Given the description of an element on the screen output the (x, y) to click on. 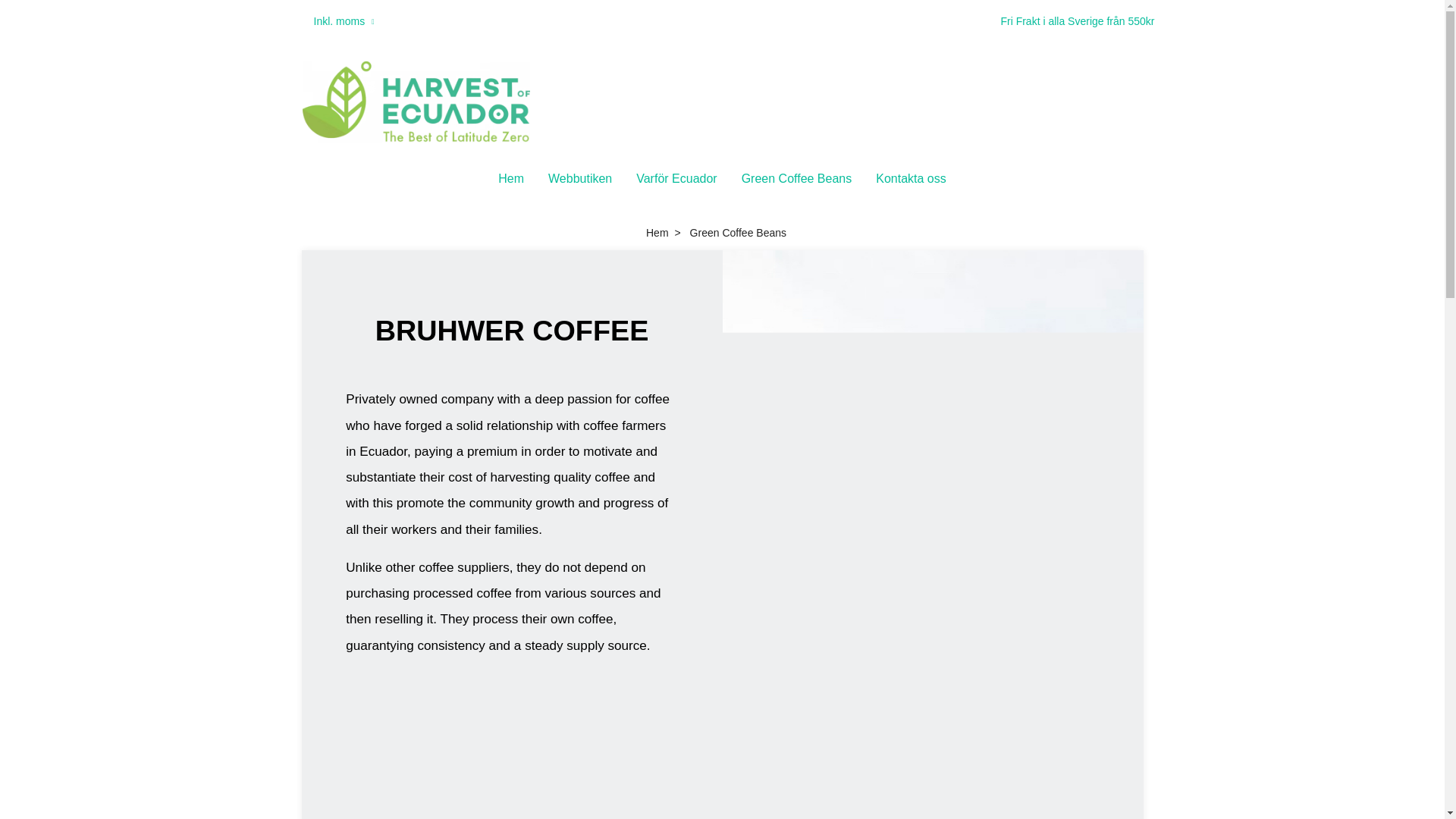
Hem (510, 178)
Green Coffee Beans (796, 178)
Webbutiken (579, 178)
Inkl. moms (344, 21)
Kontakta oss (910, 178)
Harvest of Ecuador AB (415, 101)
Hem (657, 232)
Hem (510, 178)
Webbutiken (579, 178)
Kontakta oss (910, 178)
